Given the description of an element on the screen output the (x, y) to click on. 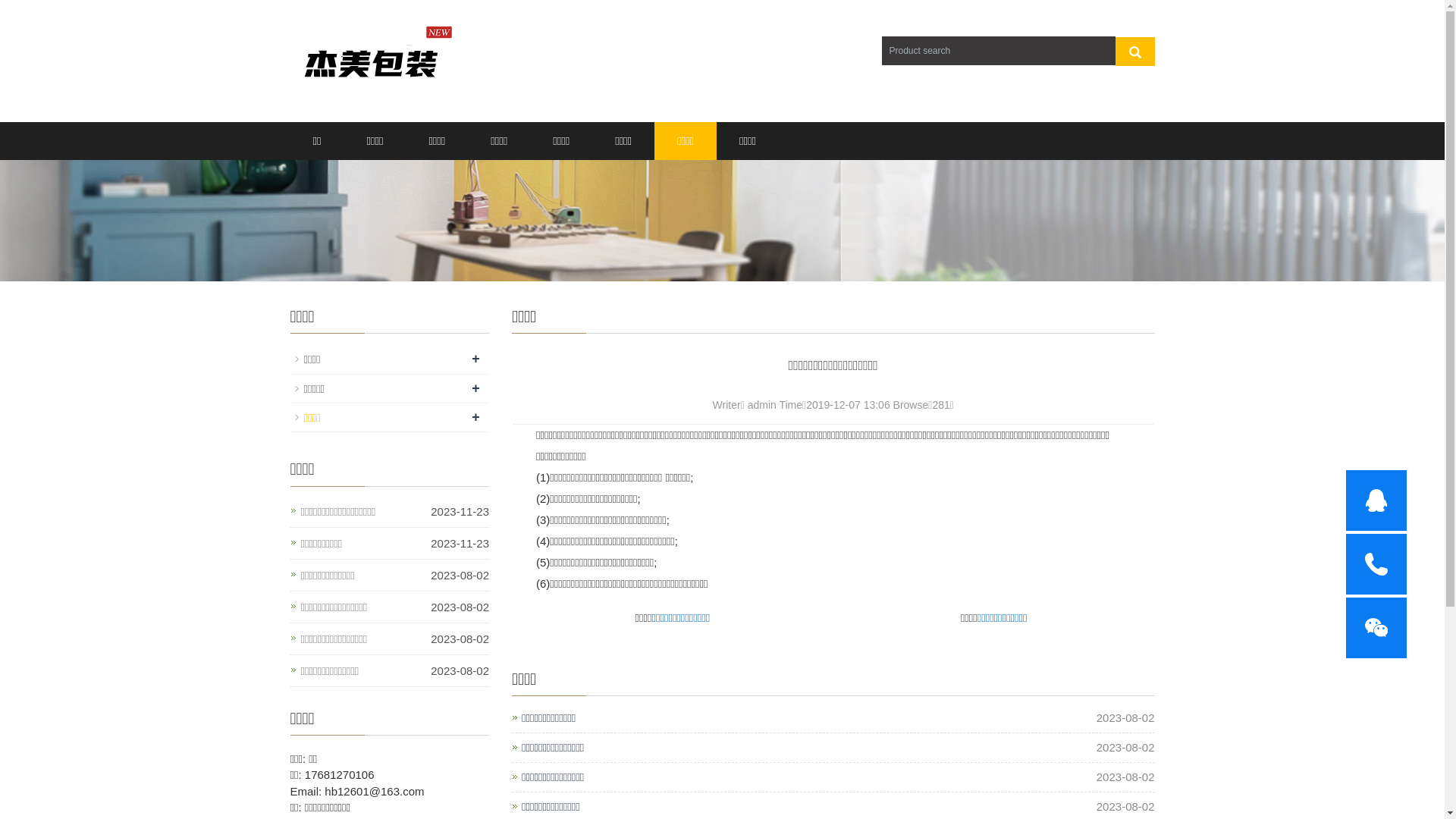
Product search Element type: hover (1134, 50)
